Given the description of an element on the screen output the (x, y) to click on. 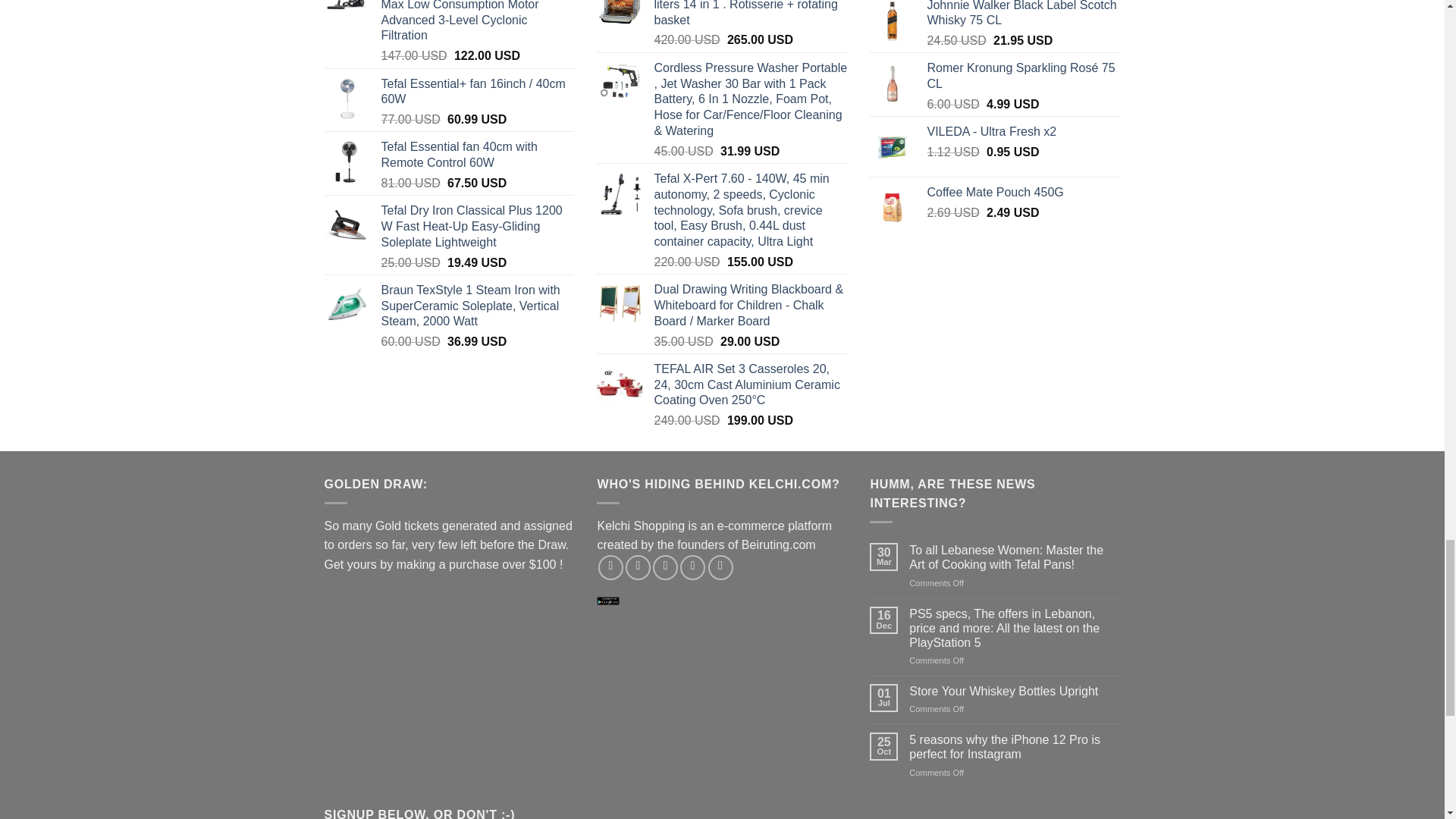
Follow on Twitter (665, 567)
Send us an email (691, 567)
Follow on Facebook (610, 567)
Follow on Instagram (638, 567)
Call us (720, 567)
Store Your Whiskey Bottles Upright (1013, 690)
